Given the description of an element on the screen output the (x, y) to click on. 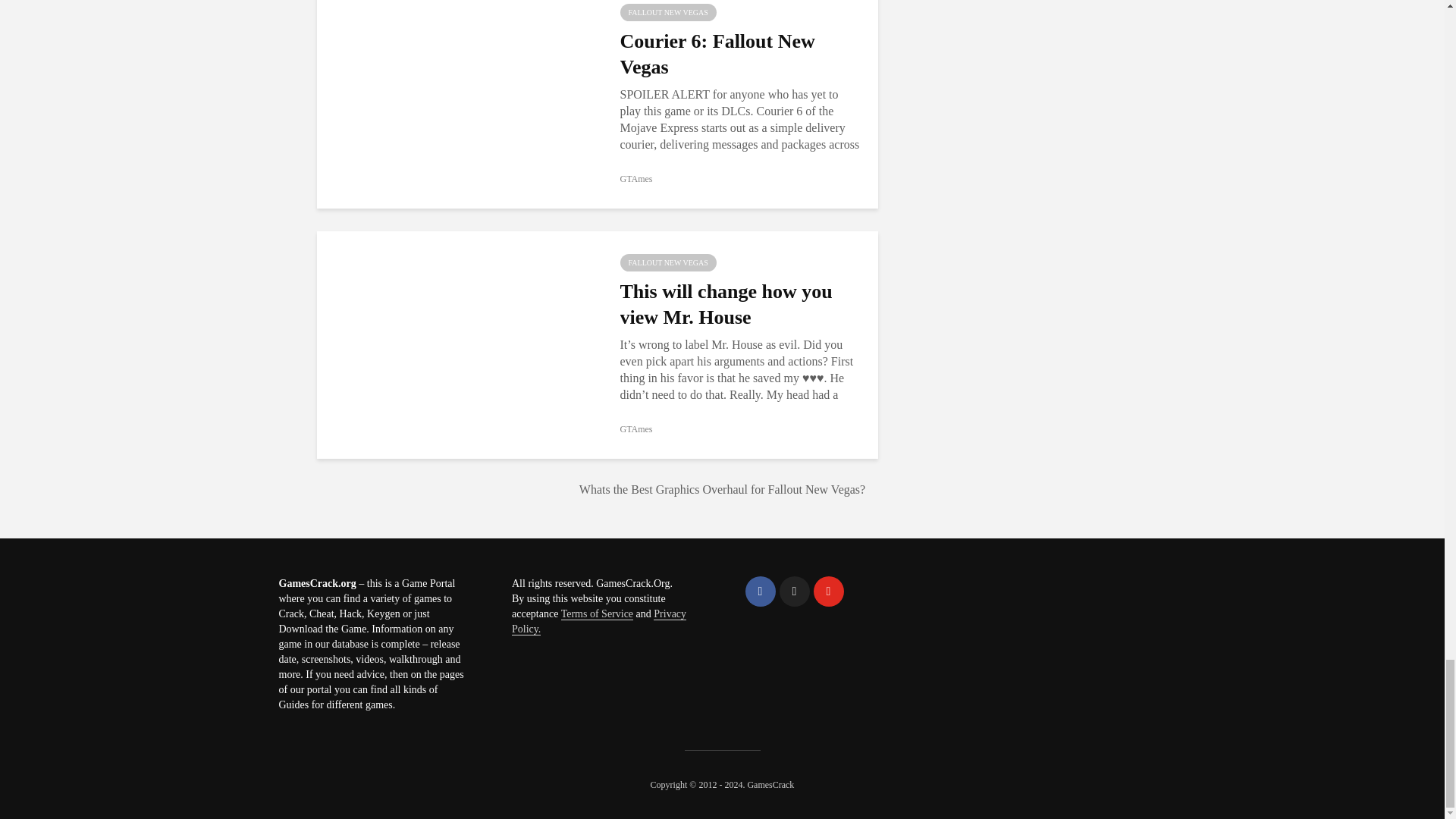
This will change how you view Mr. House (456, 343)
Facebook (759, 591)
Courier 6: Fallout New Vegas (456, 92)
FALLOUT NEW VEGAS (668, 12)
Courier 6: Fallout New Vegas (740, 54)
GTAmes (636, 178)
YouTube (827, 591)
